Given the description of an element on the screen output the (x, y) to click on. 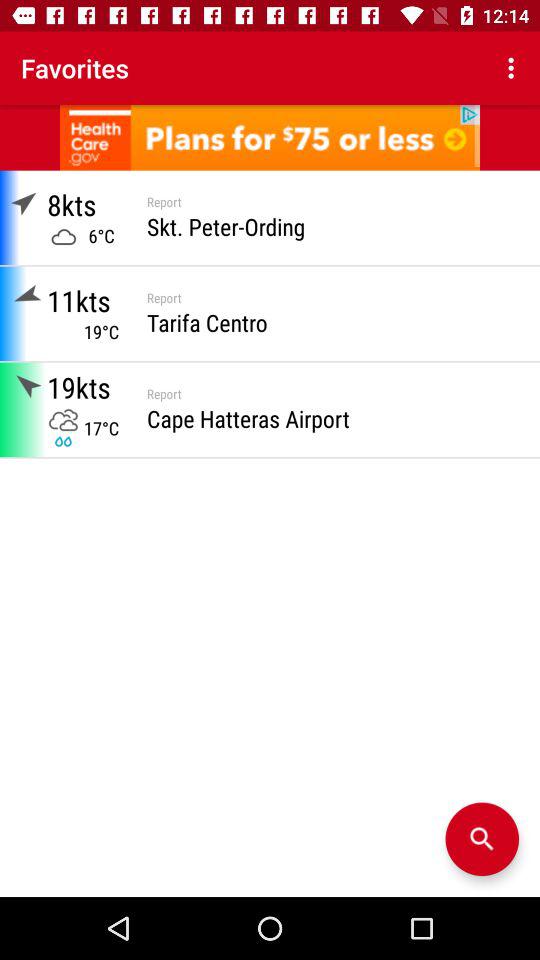
select red color circle (482, 839)
select the cloud icon below the 8kts (62, 236)
click on cloud icon below 19kts (62, 419)
